Given the description of an element on the screen output the (x, y) to click on. 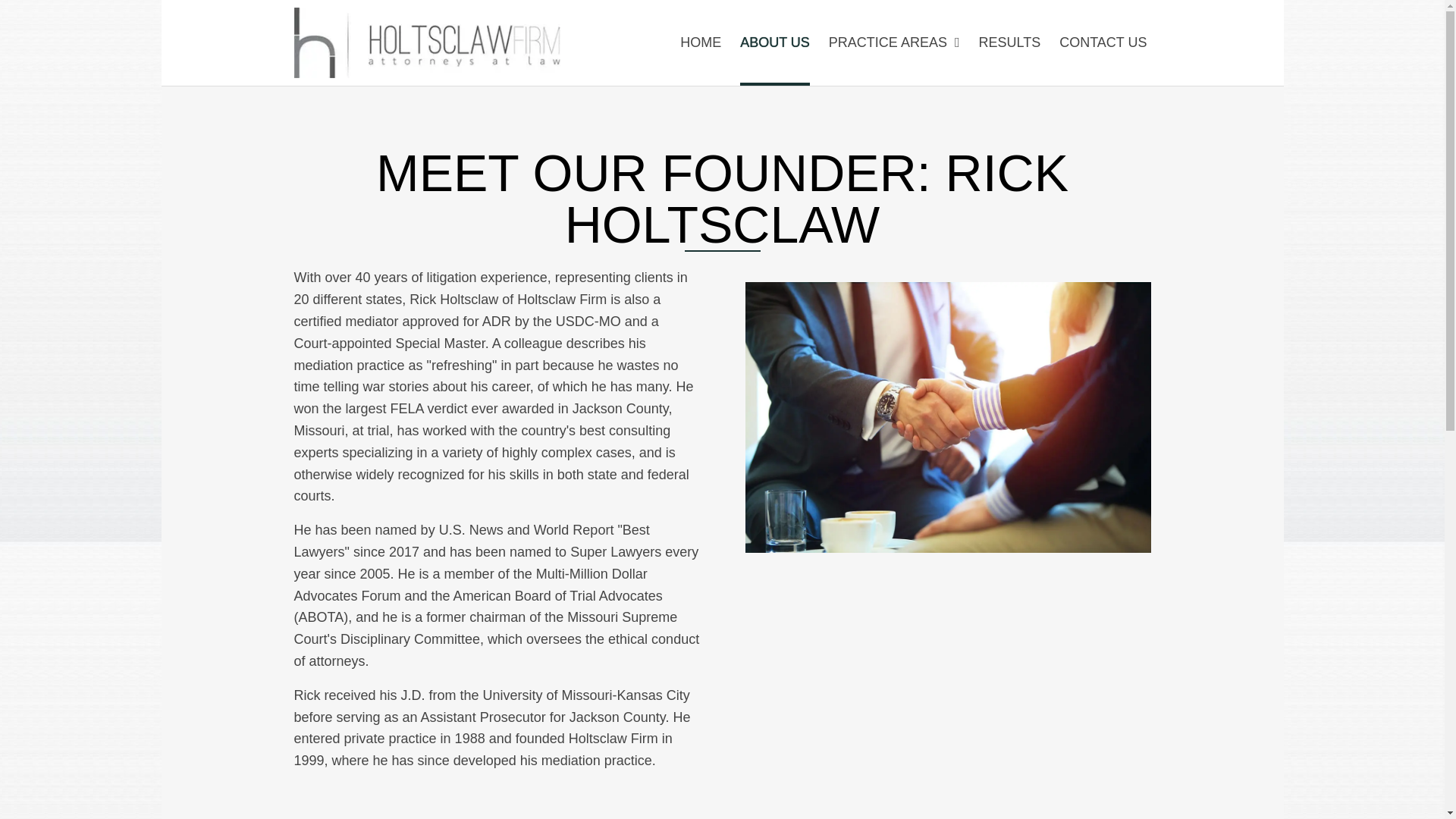
RESULTS (1009, 43)
ABOUT US (774, 43)
HOME (699, 43)
PRACTICE AREAS (893, 43)
CONTACT US (1103, 43)
